Given the description of an element on the screen output the (x, y) to click on. 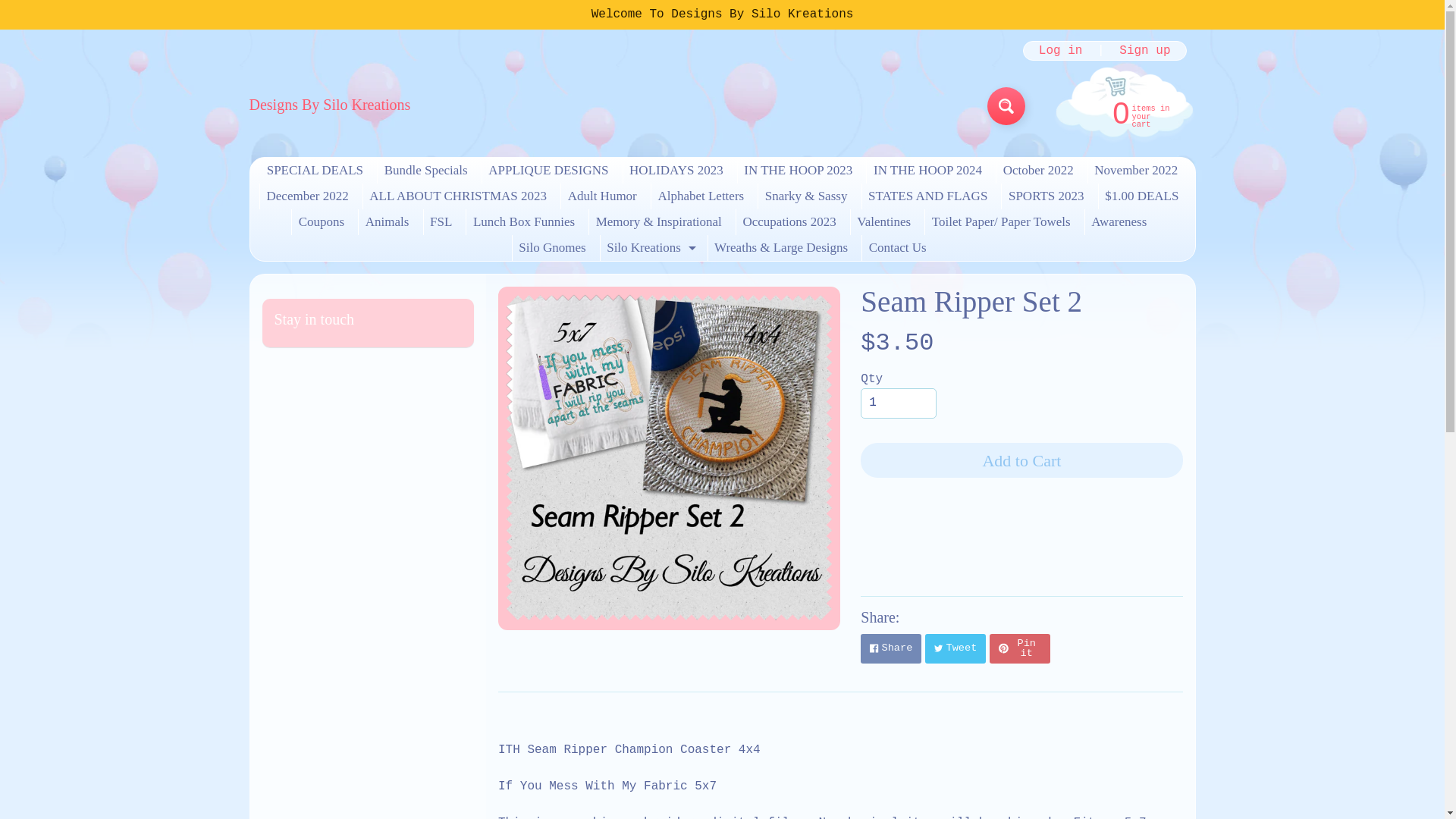
FSL (440, 222)
ALL ABOUT CHRISTMAS 2023 (457, 196)
Bundle Specials (425, 170)
Alphabet Letters (700, 196)
Designs By Silo Kreations (1122, 111)
HOLIDAYS 2023 (329, 104)
Search (676, 170)
IN THE HOOP 2023 (1006, 105)
Log in (798, 170)
